Given the description of an element on the screen output the (x, y) to click on. 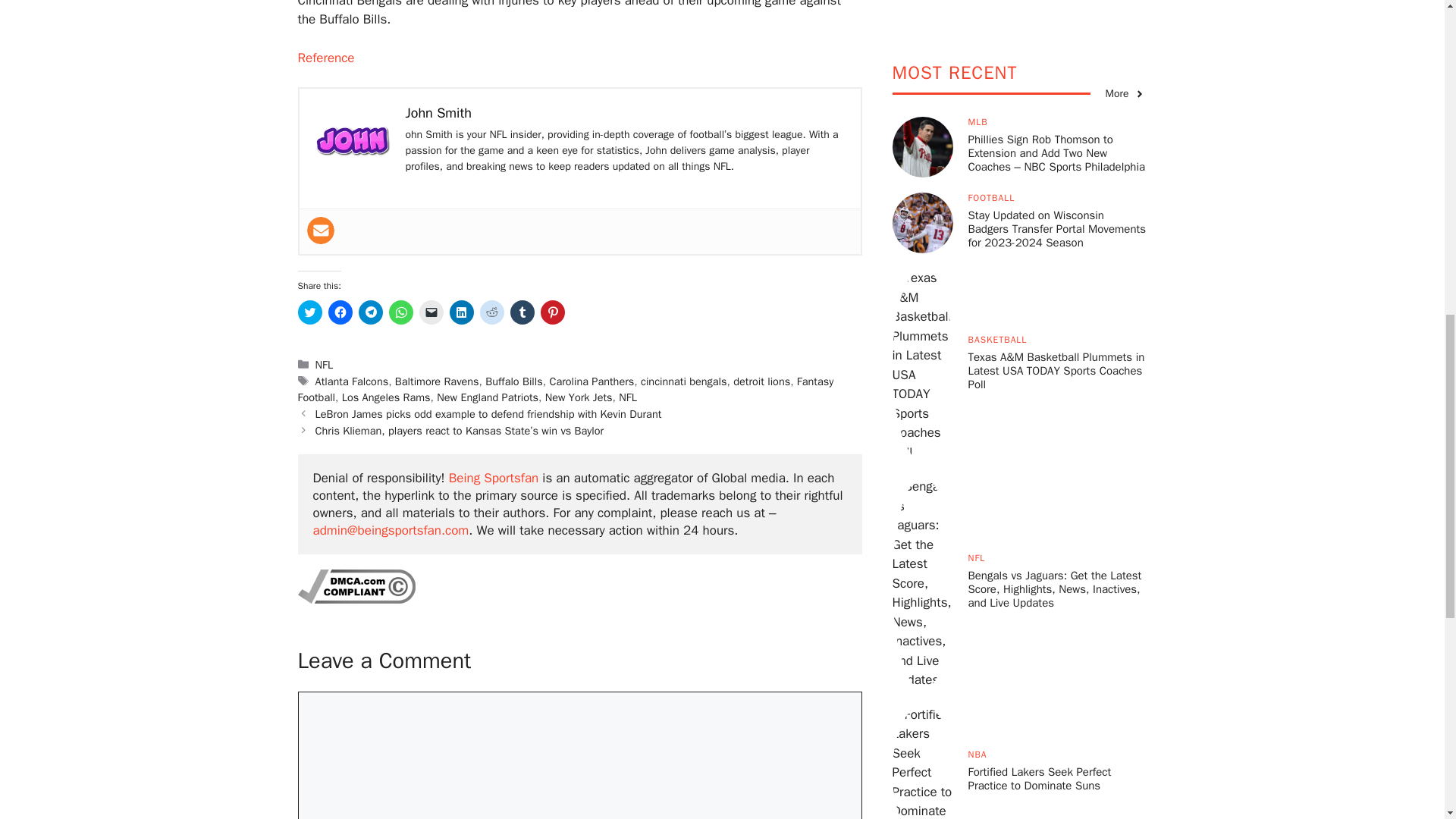
Baltimore Ravens (436, 381)
cincinnati bengals (683, 381)
Click to share on Reddit (491, 312)
Reference (325, 57)
Click to share on Twitter (309, 312)
Fantasy Football (564, 389)
Atlanta Falcons (351, 381)
Click to share on LinkedIn (460, 312)
NFL (324, 364)
Buffalo Bills (513, 381)
